Given the description of an element on the screen output the (x, y) to click on. 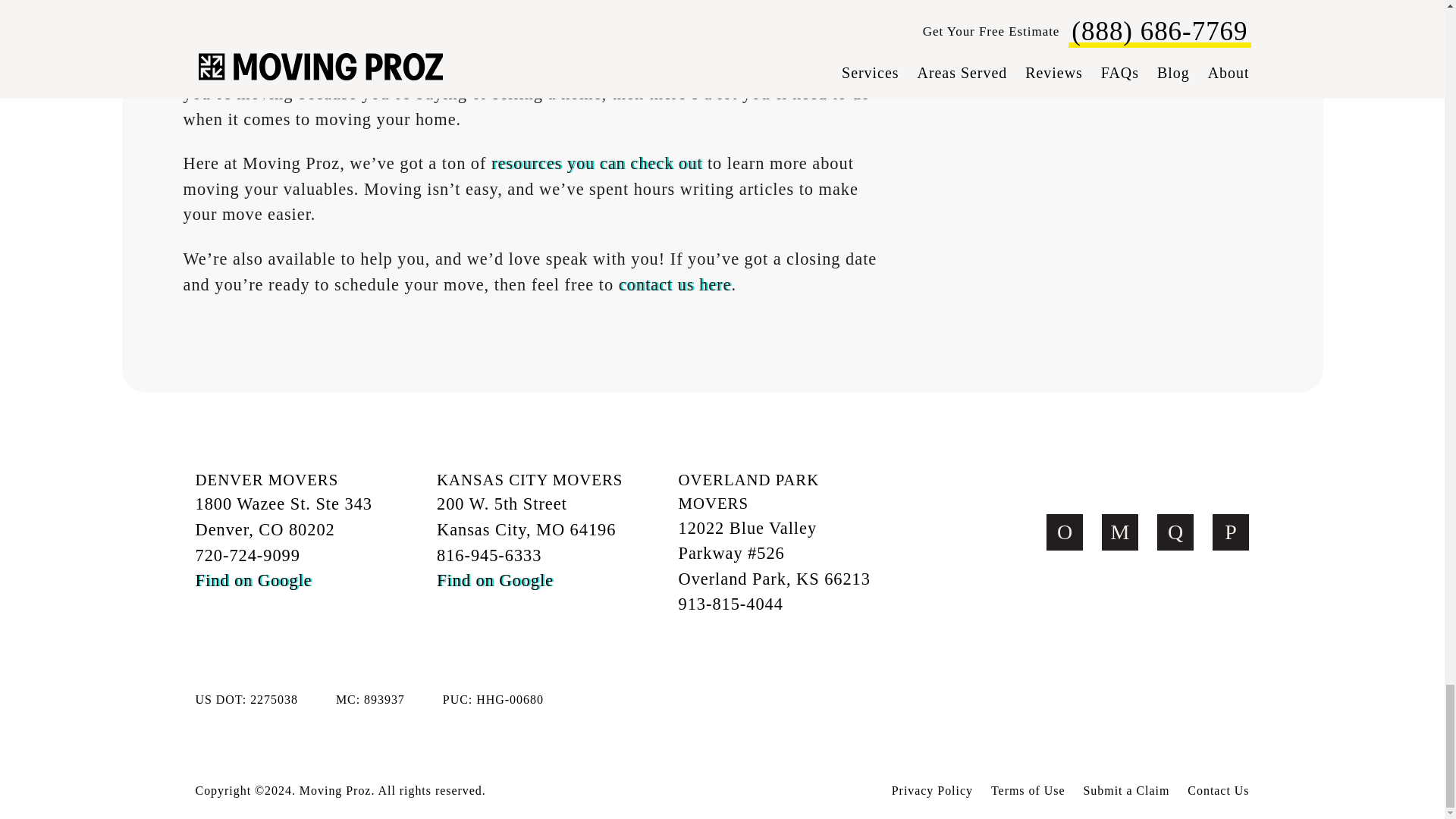
LinkedIn (1230, 532)
Twitter (1064, 532)
Facebook (1120, 532)
Instagram (1175, 532)
Moving Proz (1123, 481)
